Given the description of an element on the screen output the (x, y) to click on. 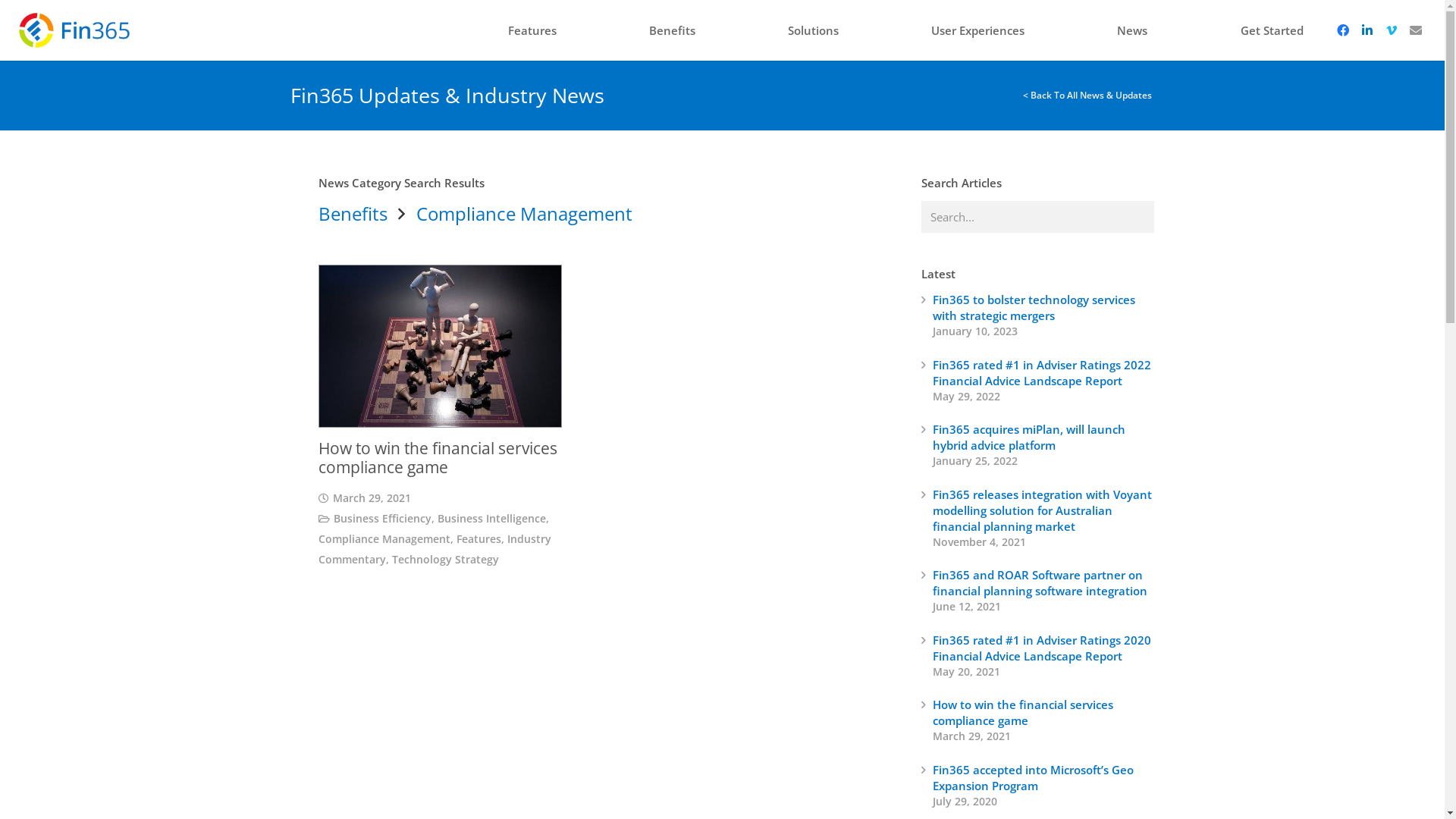
Get Started Element type: text (1271, 30)
News Element type: text (1131, 30)
LinkedIn Element type: hover (1366, 30)
Business Intelligence Element type: text (491, 518)
Title Element type: hover (1414, 30)
Technology Strategy Element type: text (445, 559)
How to win the financial services compliance game Element type: text (1022, 712)
Features Element type: text (478, 539)
Benefits Element type: text (671, 30)
Solutions Element type: text (813, 30)
Fin365 to bolster technology services with strategic mergers Element type: text (1033, 307)
< Back To All News & Updates  Element type: text (1088, 94)
Fin365 acquires miPlan, will launch hybrid advice platform Element type: text (1028, 436)
Vimeo Element type: hover (1390, 30)
Compliance Management Element type: text (384, 539)
Compliance Management Element type: text (524, 212)
User Experiences Element type: text (977, 30)
Benefits Element type: text (352, 212)
Business Efficiency Element type: text (382, 518)
How to win the financial services compliance game Element type: text (437, 457)
Features Element type: text (531, 30)
Industry Commentary Element type: text (434, 549)
Facebook Element type: hover (1342, 30)
